Given the description of an element on the screen output the (x, y) to click on. 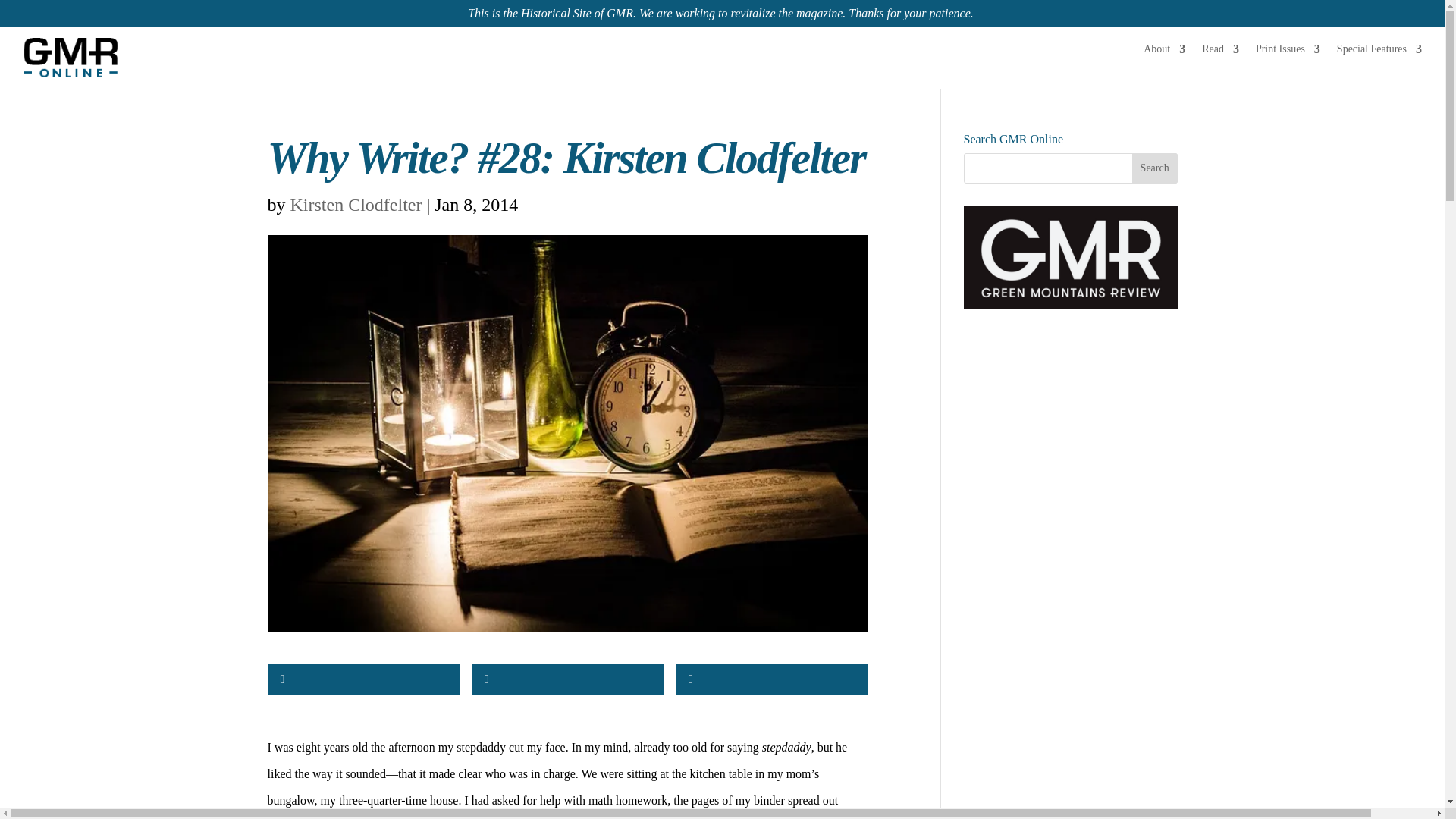
Read (1220, 52)
Posts by Kirsten Clodfelter (355, 204)
About (1163, 52)
Kirsten Clodfelter (355, 204)
Search (1154, 168)
Special Features (1379, 52)
GMR-Online (71, 56)
Print Issues (1287, 52)
